Given the description of an element on the screen output the (x, y) to click on. 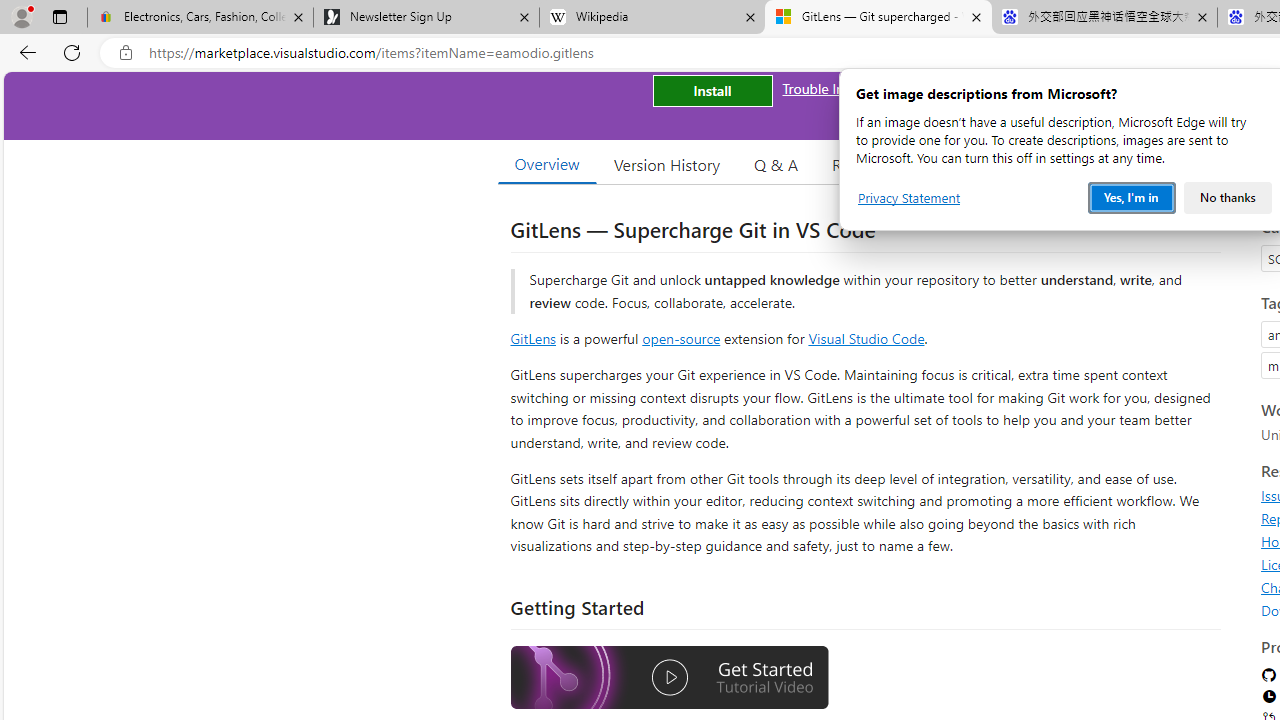
No thanks (1228, 197)
Privacy Statement (909, 197)
Yes, I'm in (1132, 197)
